Given the description of an element on the screen output the (x, y) to click on. 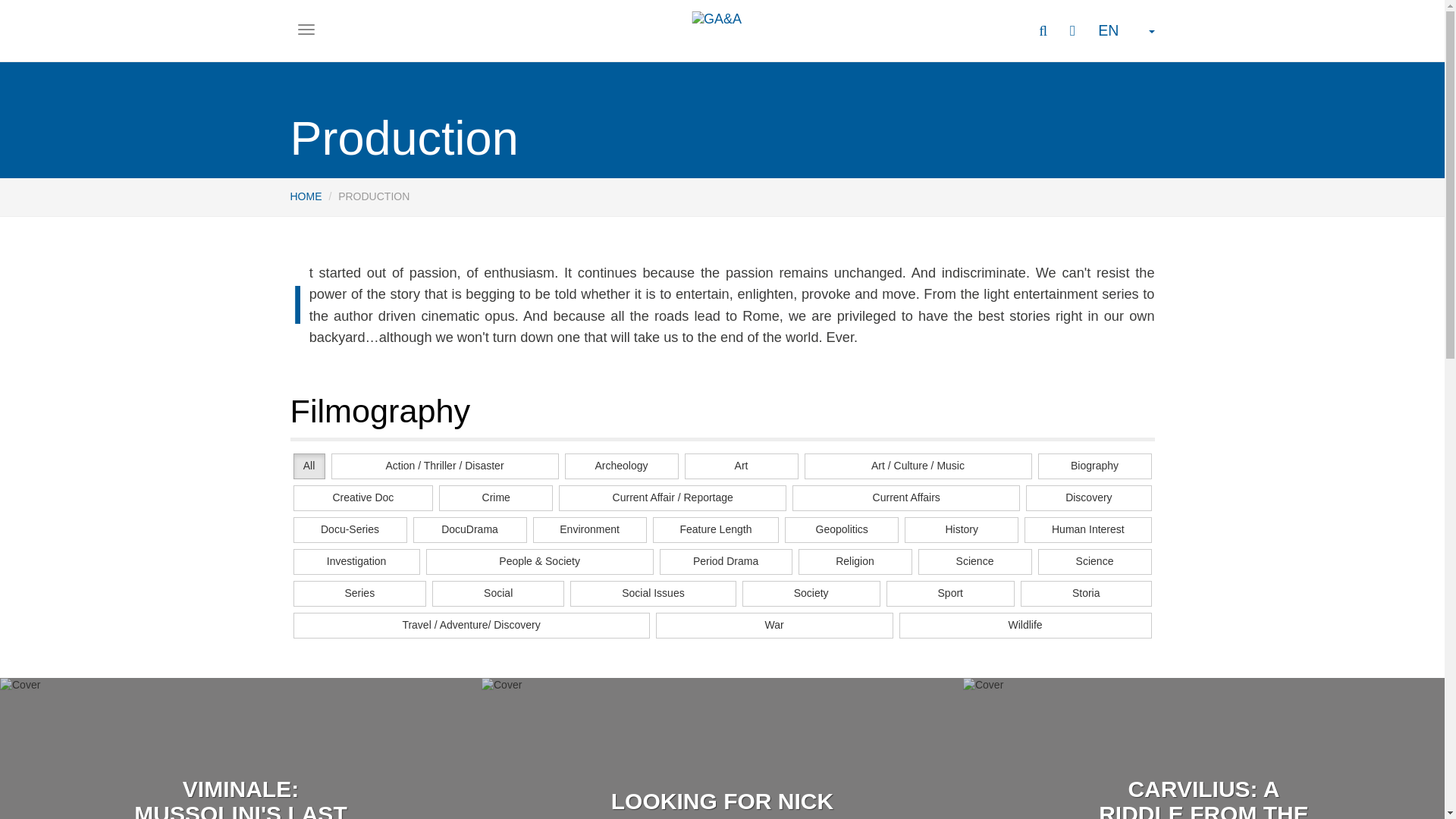
EN (1126, 30)
HOME (305, 196)
Toggle navigation (305, 29)
